Given the description of an element on the screen output the (x, y) to click on. 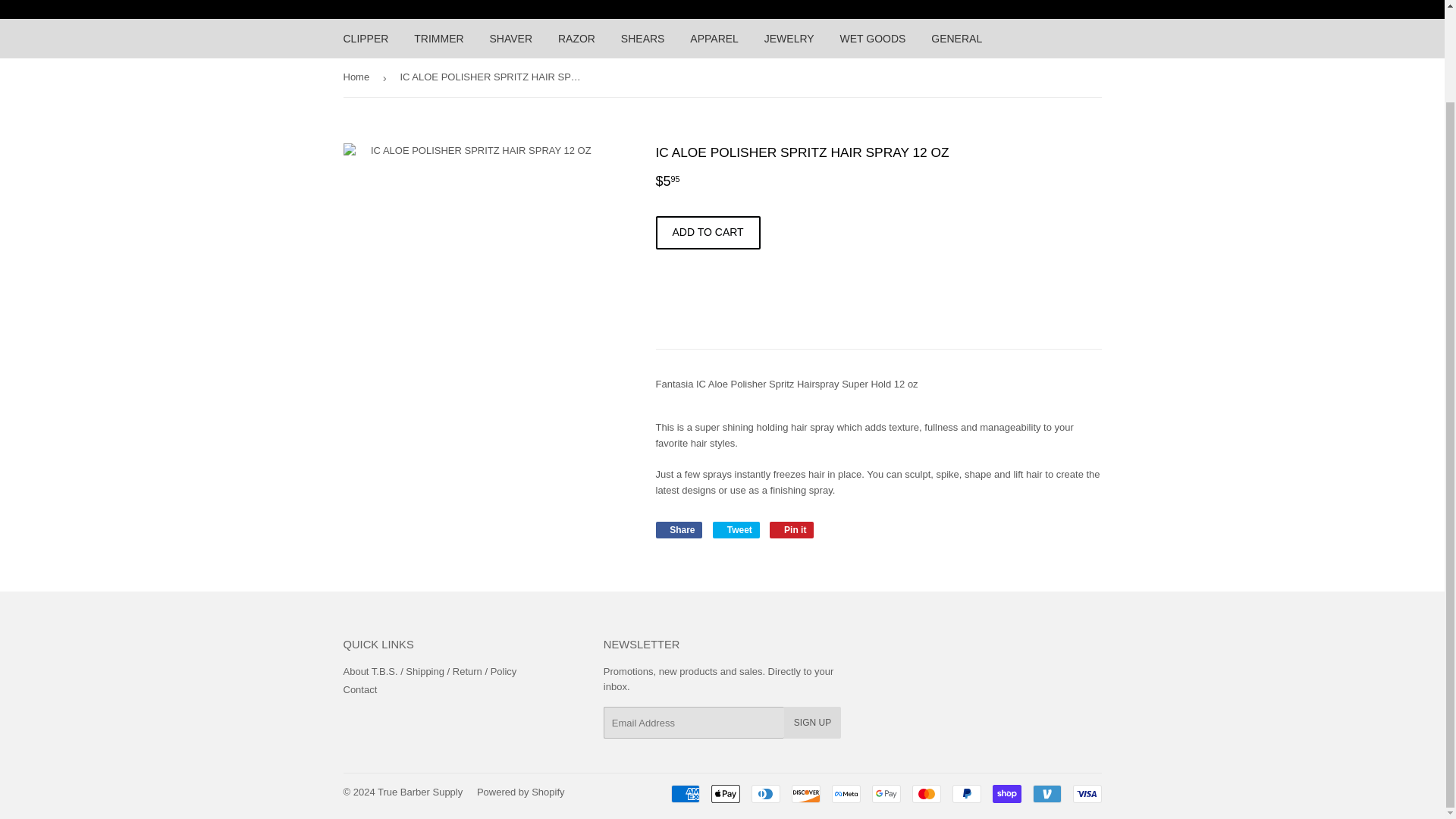
Share on Facebook (678, 529)
Tweet on Twitter (736, 529)
Google Pay (886, 793)
Visa (1085, 793)
Meta Pay (845, 793)
American Express (683, 793)
Pin on Pinterest (791, 529)
Venmo (1046, 793)
Shop Pay (1005, 793)
Diners Club (764, 793)
